Given the description of an element on the screen output the (x, y) to click on. 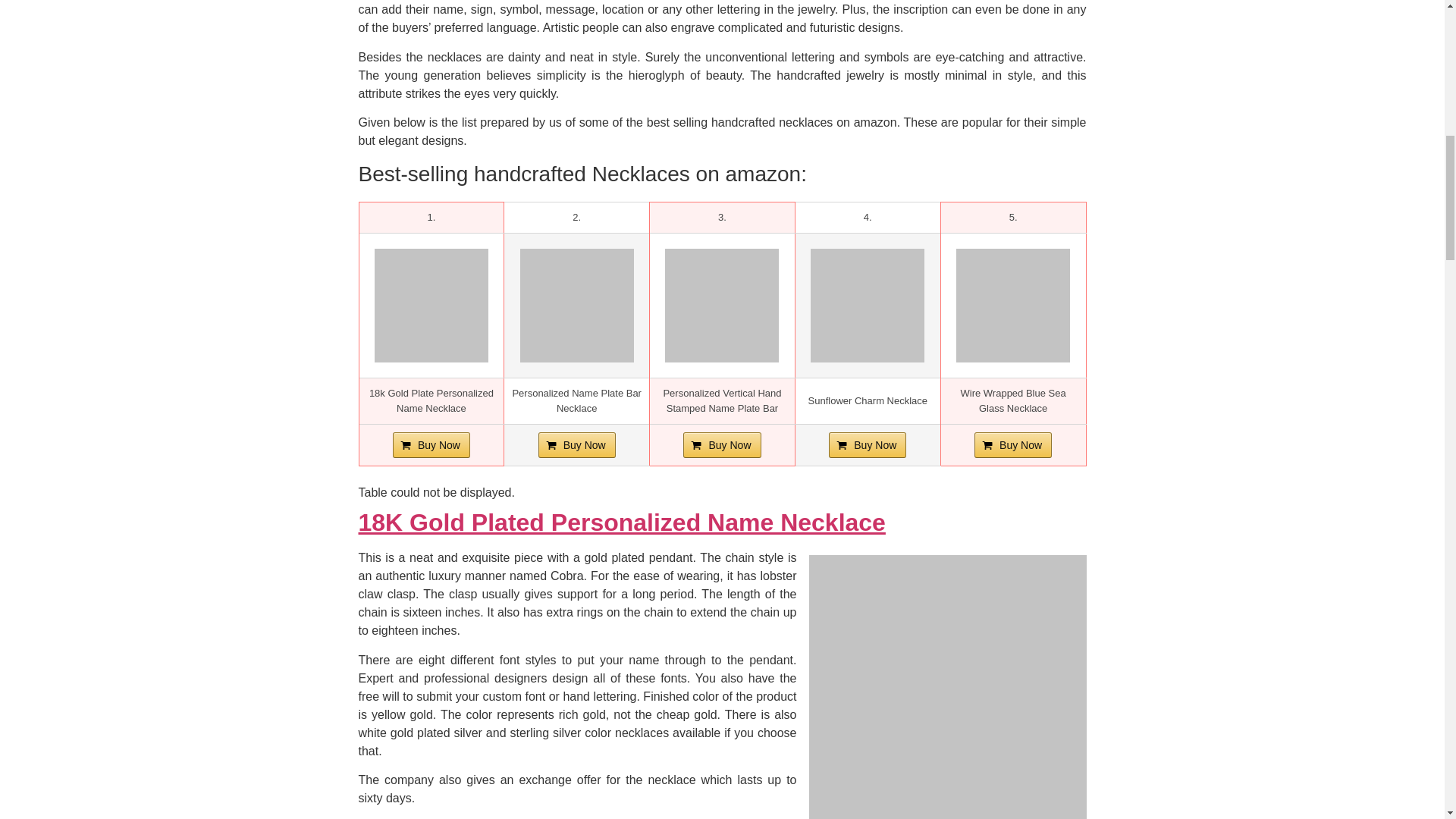
Buy Now (576, 444)
Buy Now (866, 444)
Buy Now (431, 444)
Buy Now (576, 444)
Buy Now (866, 444)
Buy Now (1012, 444)
Buy Now (721, 444)
Buy Now (1012, 444)
Buy Now (431, 444)
Buy Now (721, 444)
